Given the description of an element on the screen output the (x, y) to click on. 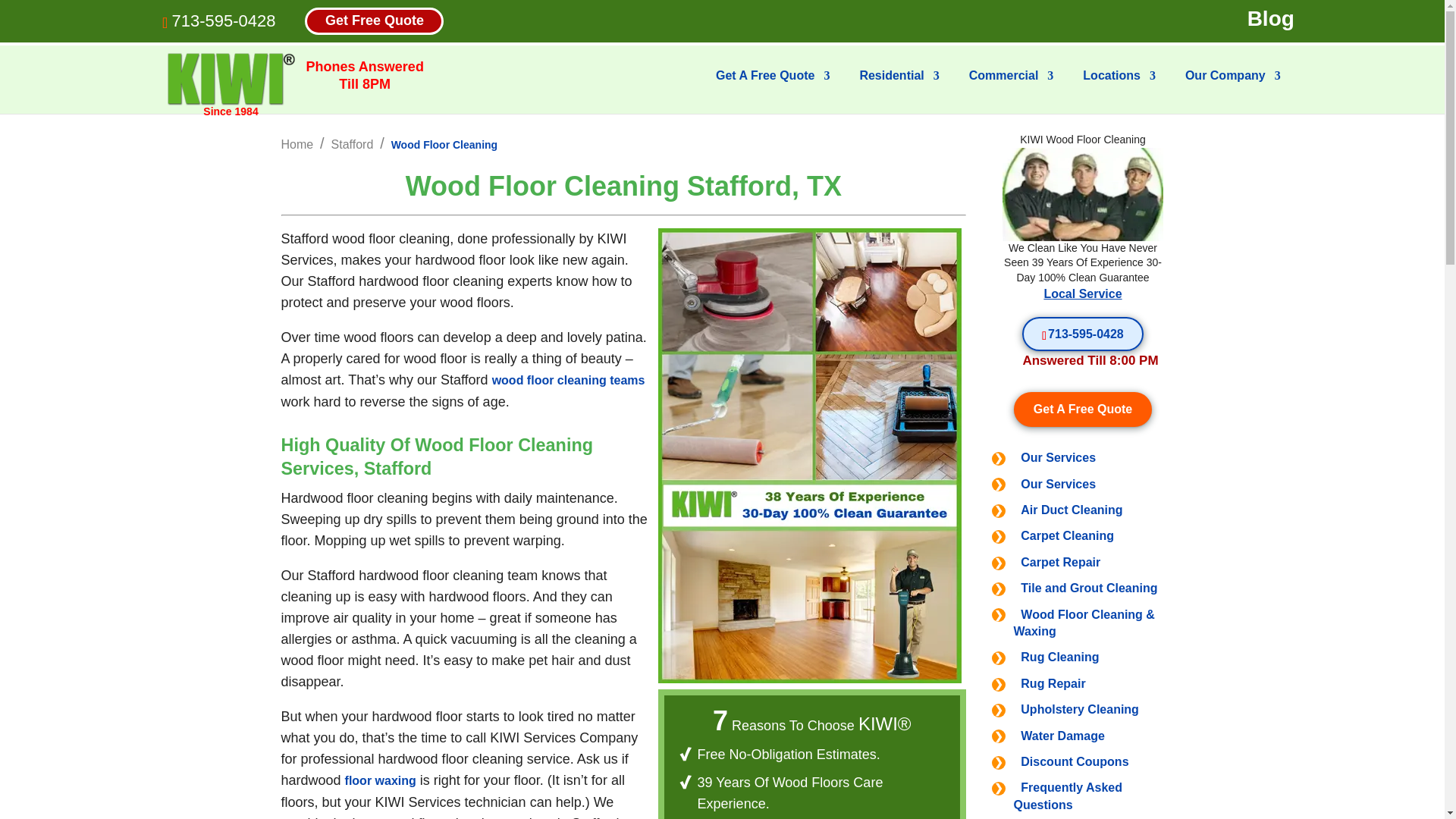
713-595-0428 (223, 20)
Call For This Week's Special (1082, 333)
Blog (1270, 18)
KIWI Cleaning Services (230, 79)
Carpet Cleaners From Kiwi (1083, 194)
Get Free Quote On This Week's Special (1082, 408)
Get Free Quote (373, 20)
Since 1984 (230, 79)
Get A Free Quote (772, 88)
Residential (899, 88)
